Given the description of an element on the screen output the (x, y) to click on. 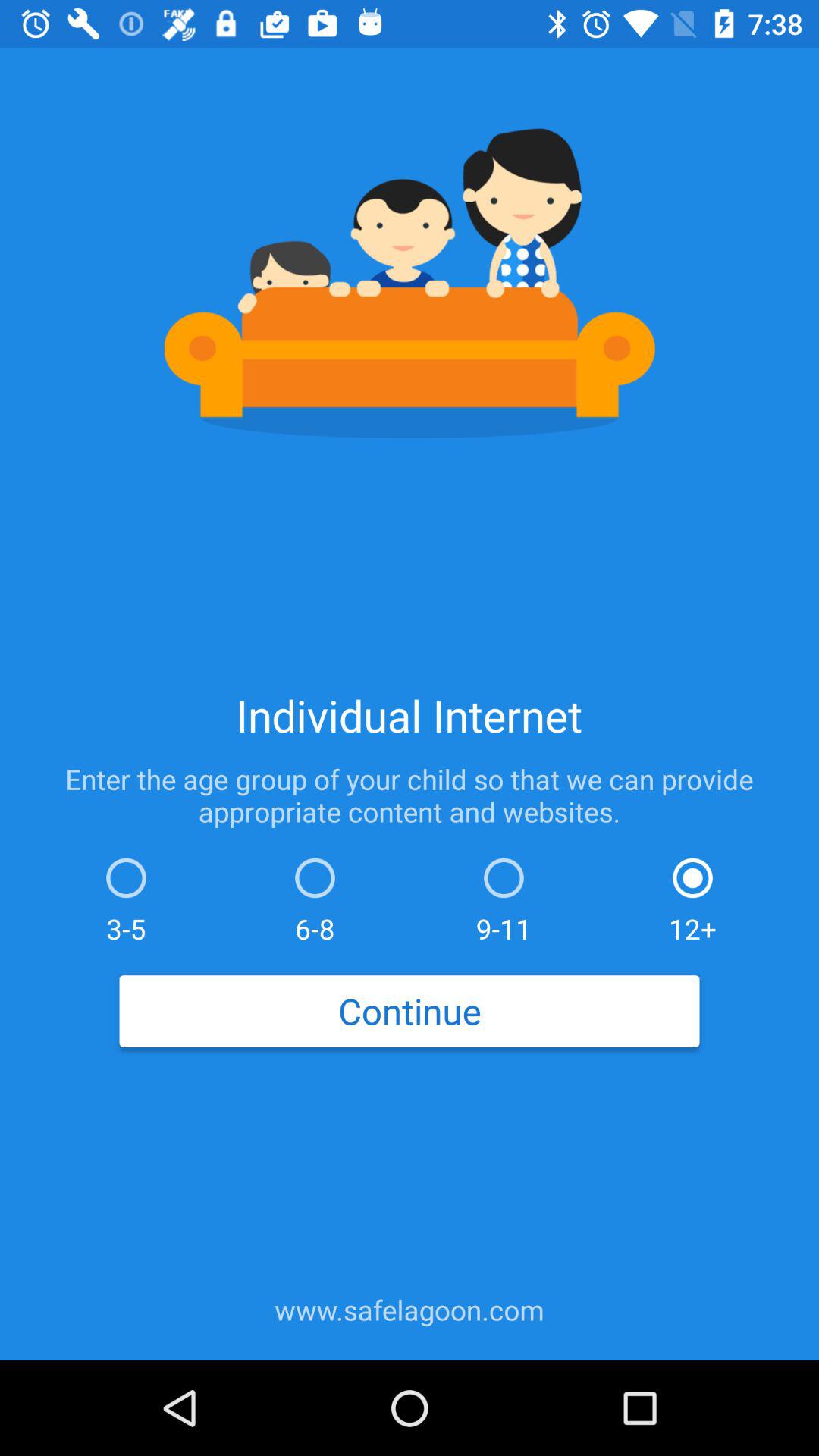
select item next to 3-5 (314, 896)
